Given the description of an element on the screen output the (x, y) to click on. 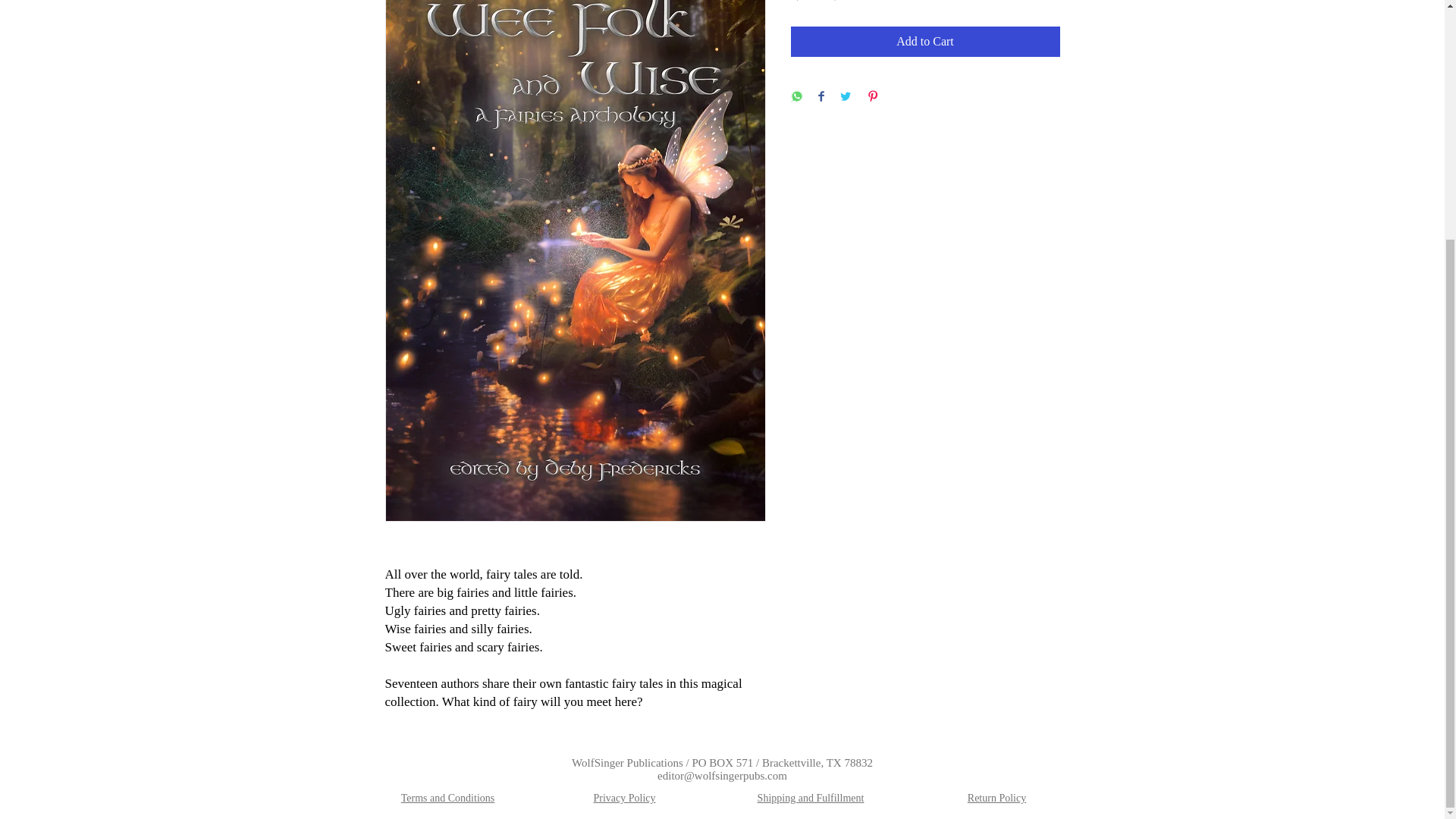
Add to Cart (924, 41)
Shipping and Fulfillment (810, 797)
Privacy Policy (623, 797)
Terms and Conditions (448, 797)
Return Policy (997, 797)
